Given the description of an element on the screen output the (x, y) to click on. 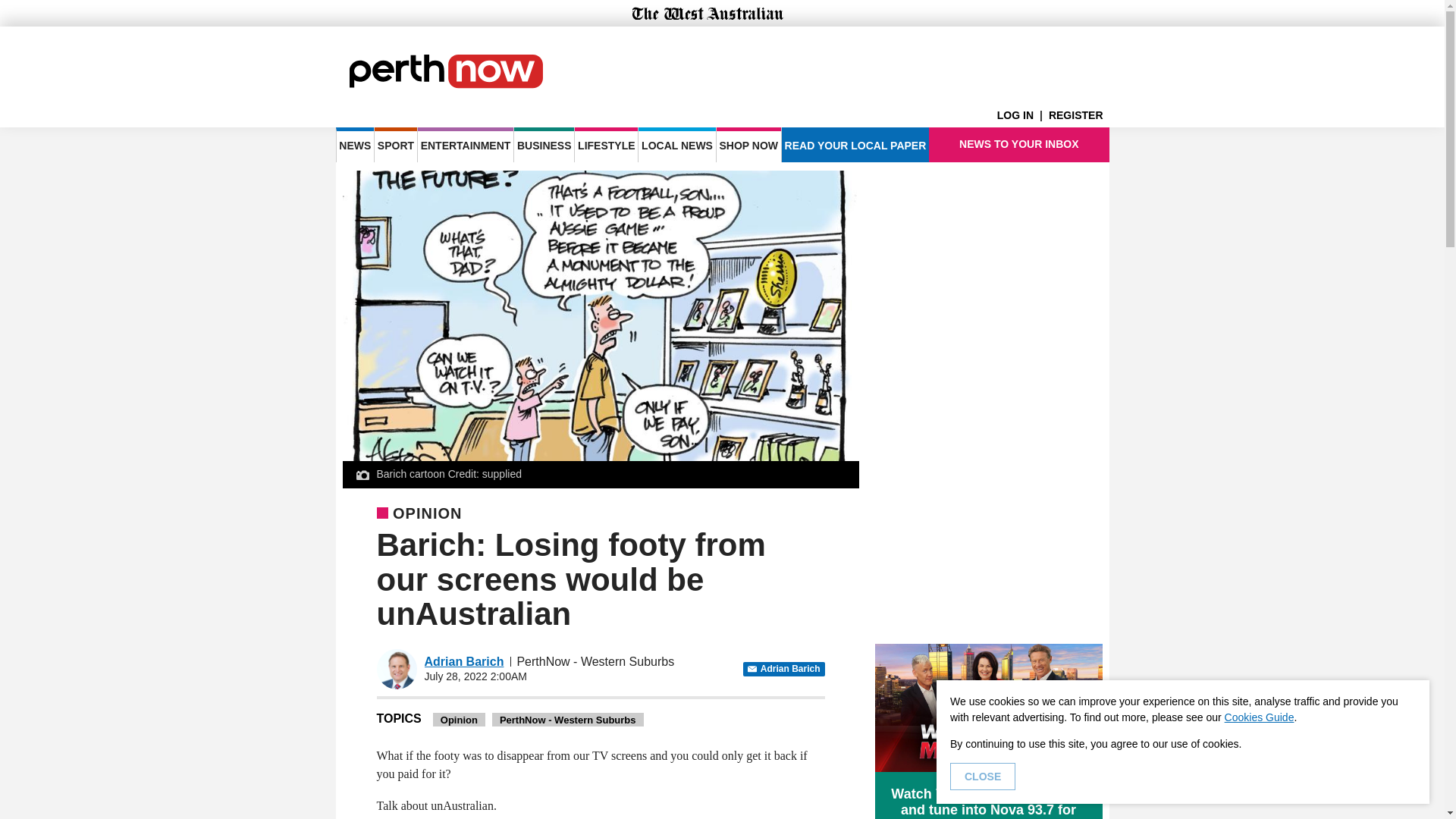
ENTERTAINMENT (465, 144)
REGISTER (1078, 115)
SPORT (395, 144)
NEWS (354, 144)
LOG IN (1022, 115)
